Given the description of an element on the screen output the (x, y) to click on. 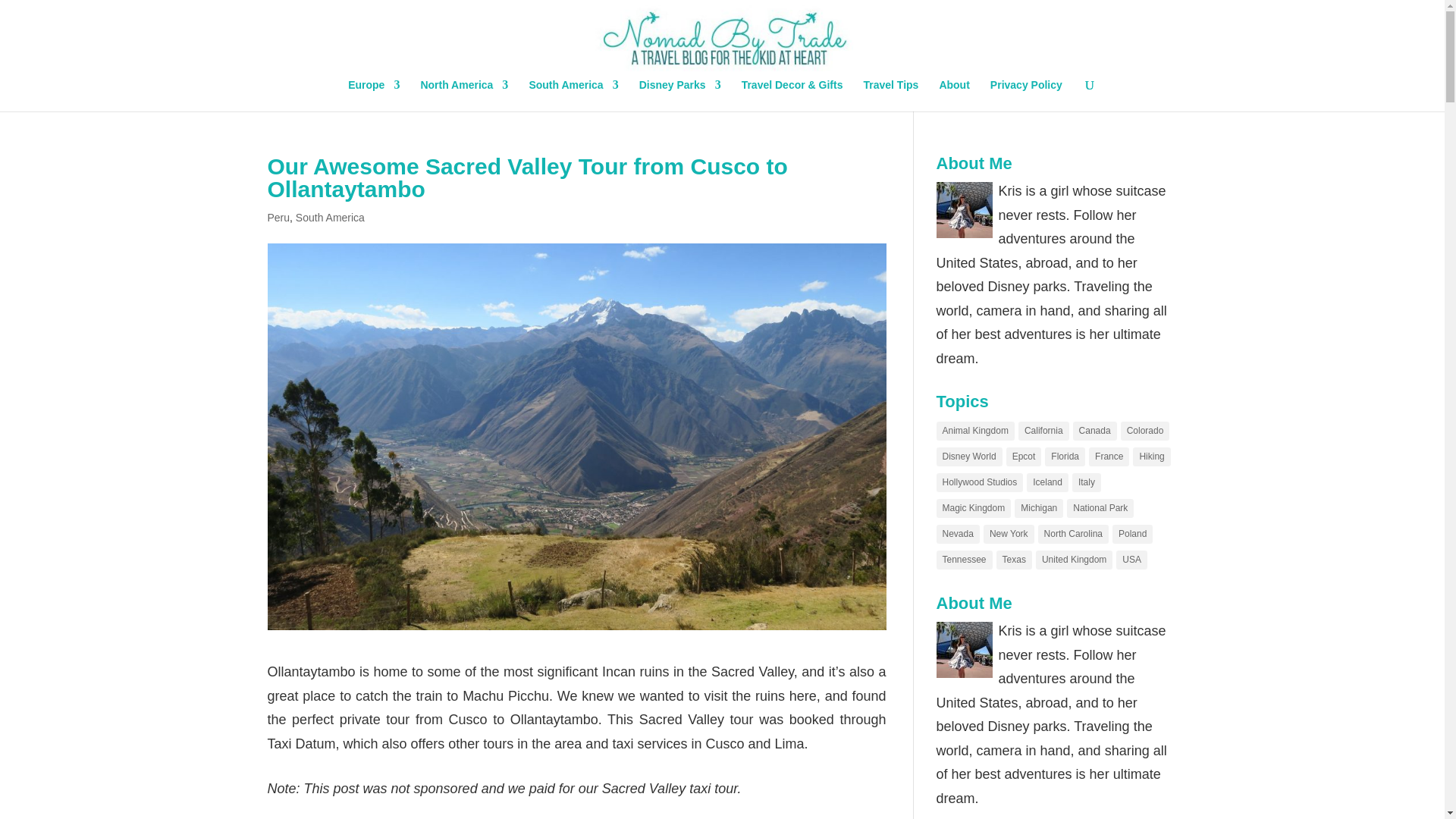
Travel Tips (890, 95)
South America (572, 95)
North America (464, 95)
Disney Parks (679, 95)
About (954, 95)
Privacy Policy (1026, 95)
Europe (372, 95)
